Given the description of an element on the screen output the (x, y) to click on. 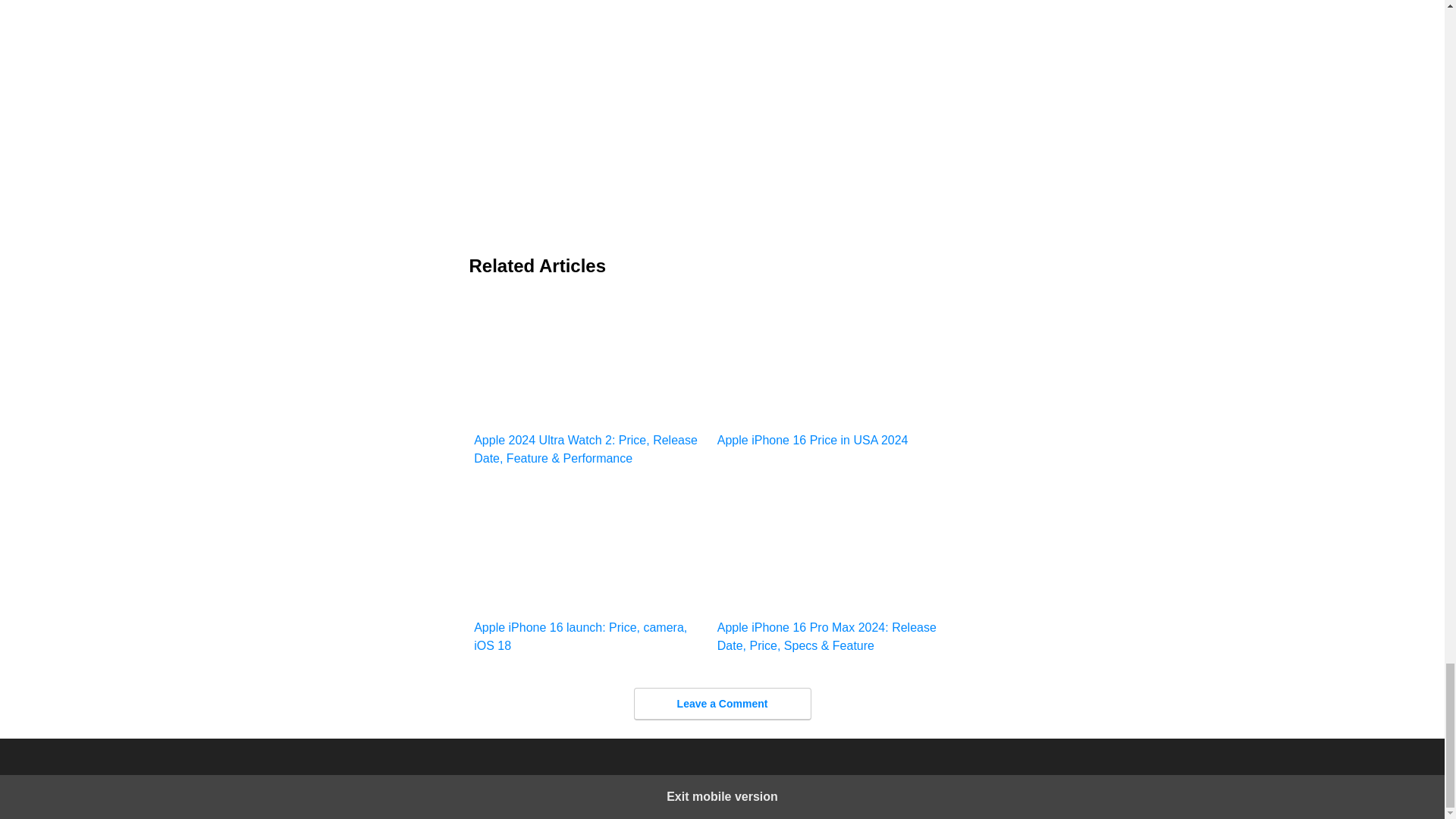
Apple iPhone 16 launch: Price, camera, iOS 18 (590, 567)
Leave a Comment (721, 703)
Apple iPhone 16 Price in USA 2024 (833, 371)
